Given the description of an element on the screen output the (x, y) to click on. 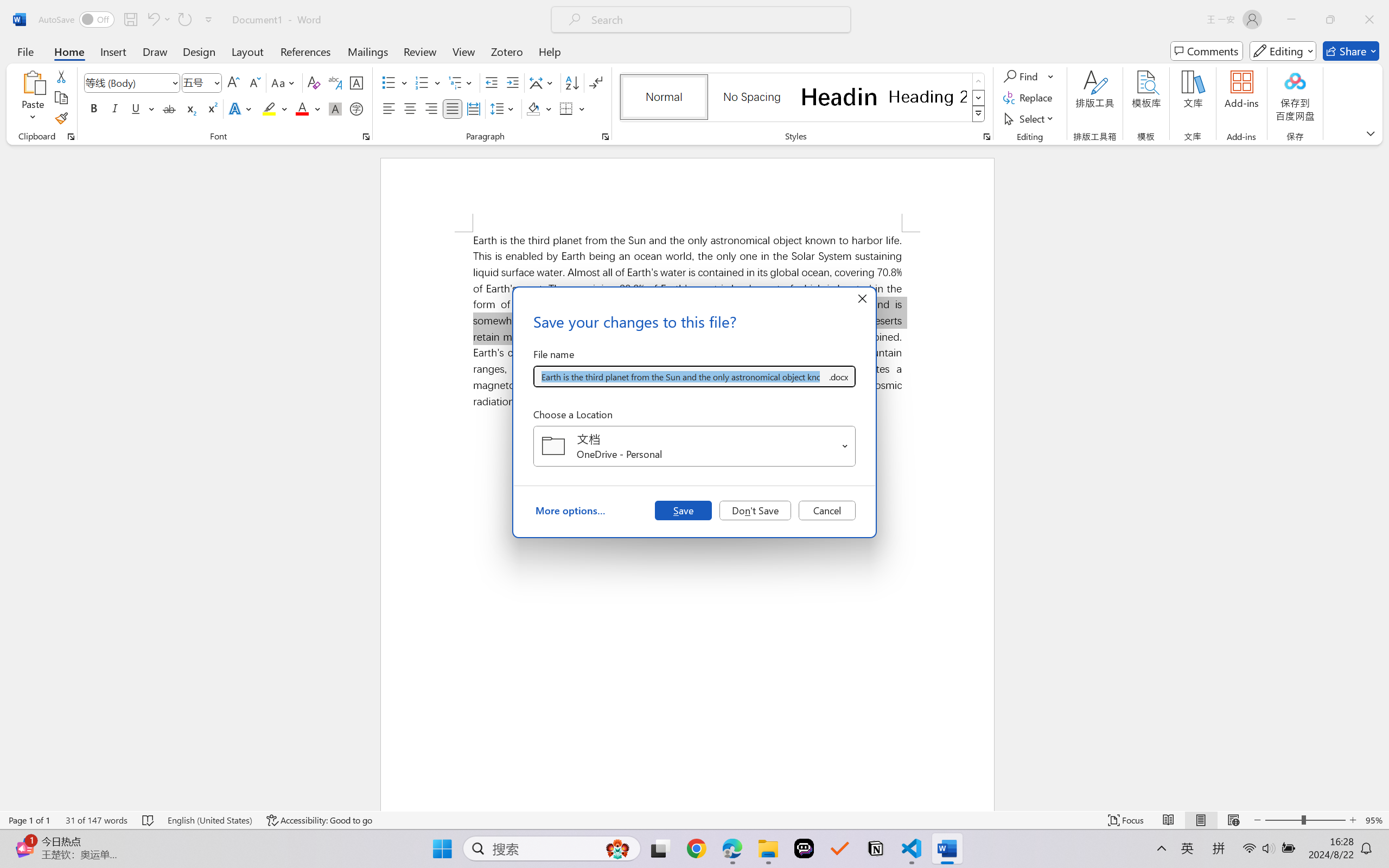
Line and Paragraph Spacing (503, 108)
Text Effects and Typography (241, 108)
Show/Hide Editing Marks (595, 82)
Shading (539, 108)
Heading 2 (927, 96)
Page down (1382, 714)
Heading 1 (839, 96)
Superscript (210, 108)
Increase Indent (512, 82)
